Given the description of an element on the screen output the (x, y) to click on. 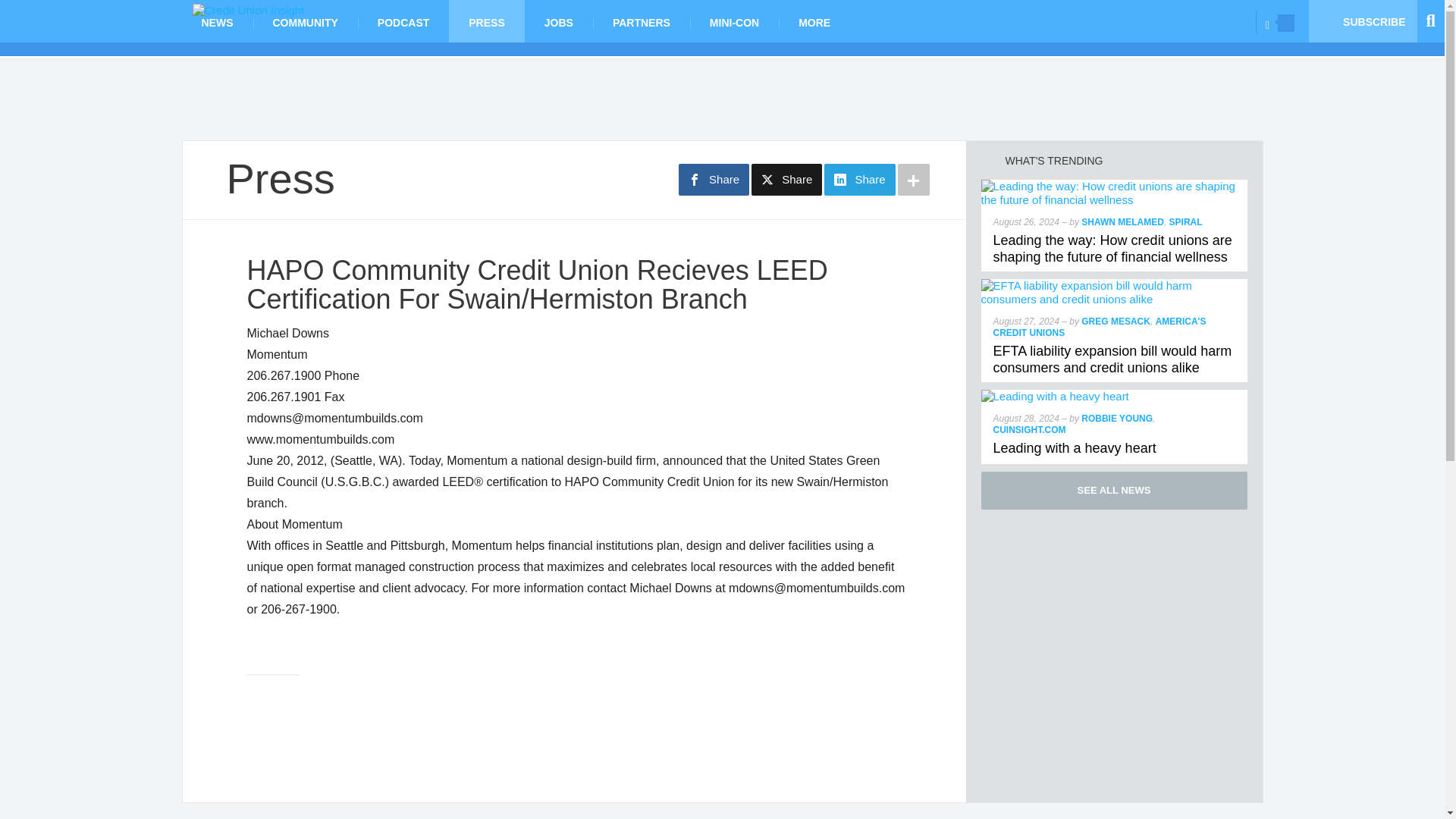
MINI-CON (734, 21)
Opener (1286, 22)
Share (713, 179)
PRESS (486, 21)
Share (859, 179)
JOBS (558, 21)
MORE (814, 21)
Leading with a heavy heart (1074, 447)
